Given the description of an element on the screen output the (x, y) to click on. 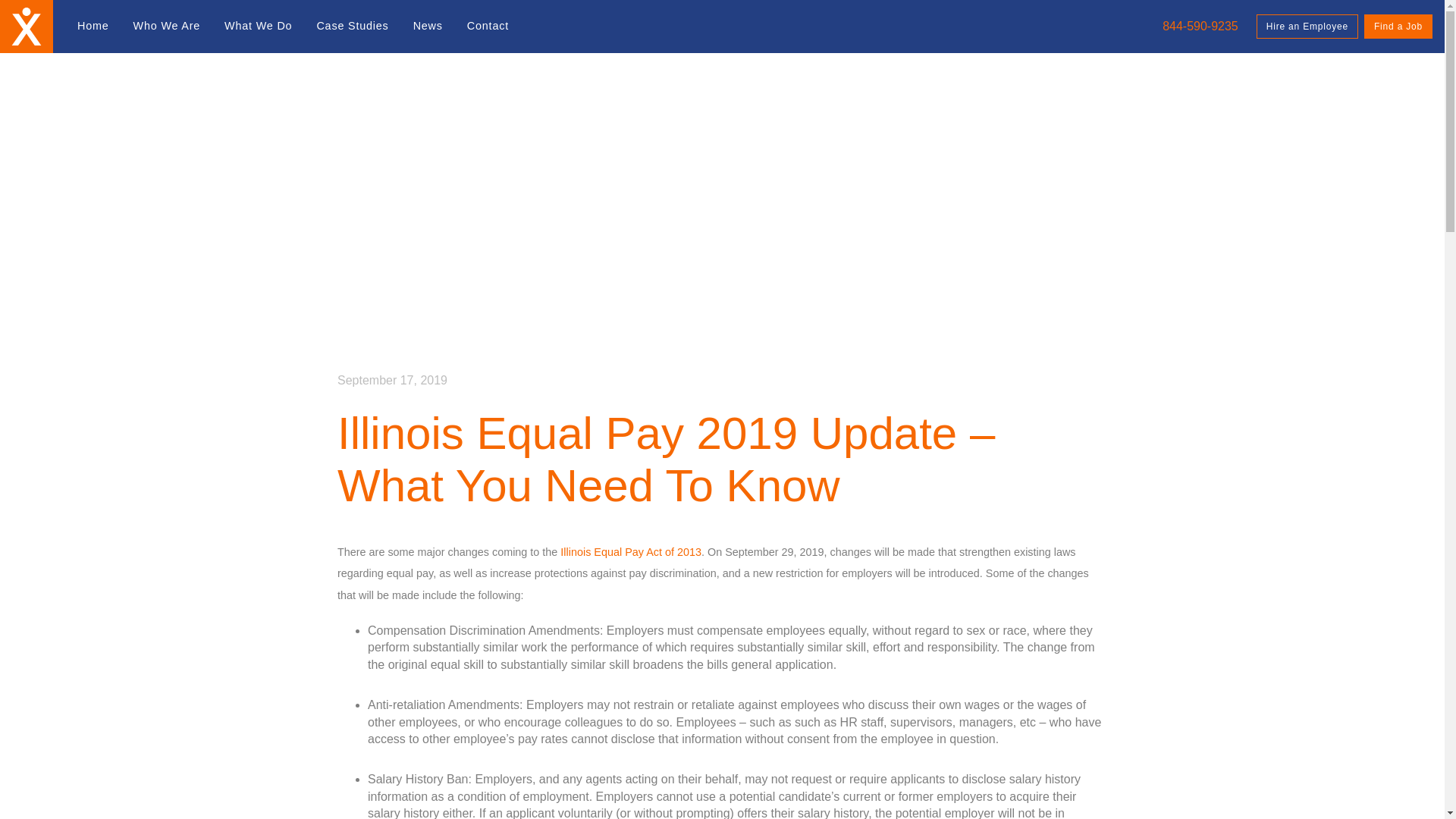
News (427, 26)
Case Studies (352, 26)
Find a Job (1398, 26)
Hire an Employee (1307, 26)
What We Do (258, 26)
Contact (487, 26)
Illinois Equal Pay Act of 2013 (630, 551)
Home (92, 26)
844-590-9235 (1198, 26)
Who We Are (166, 26)
